Given the description of an element on the screen output the (x, y) to click on. 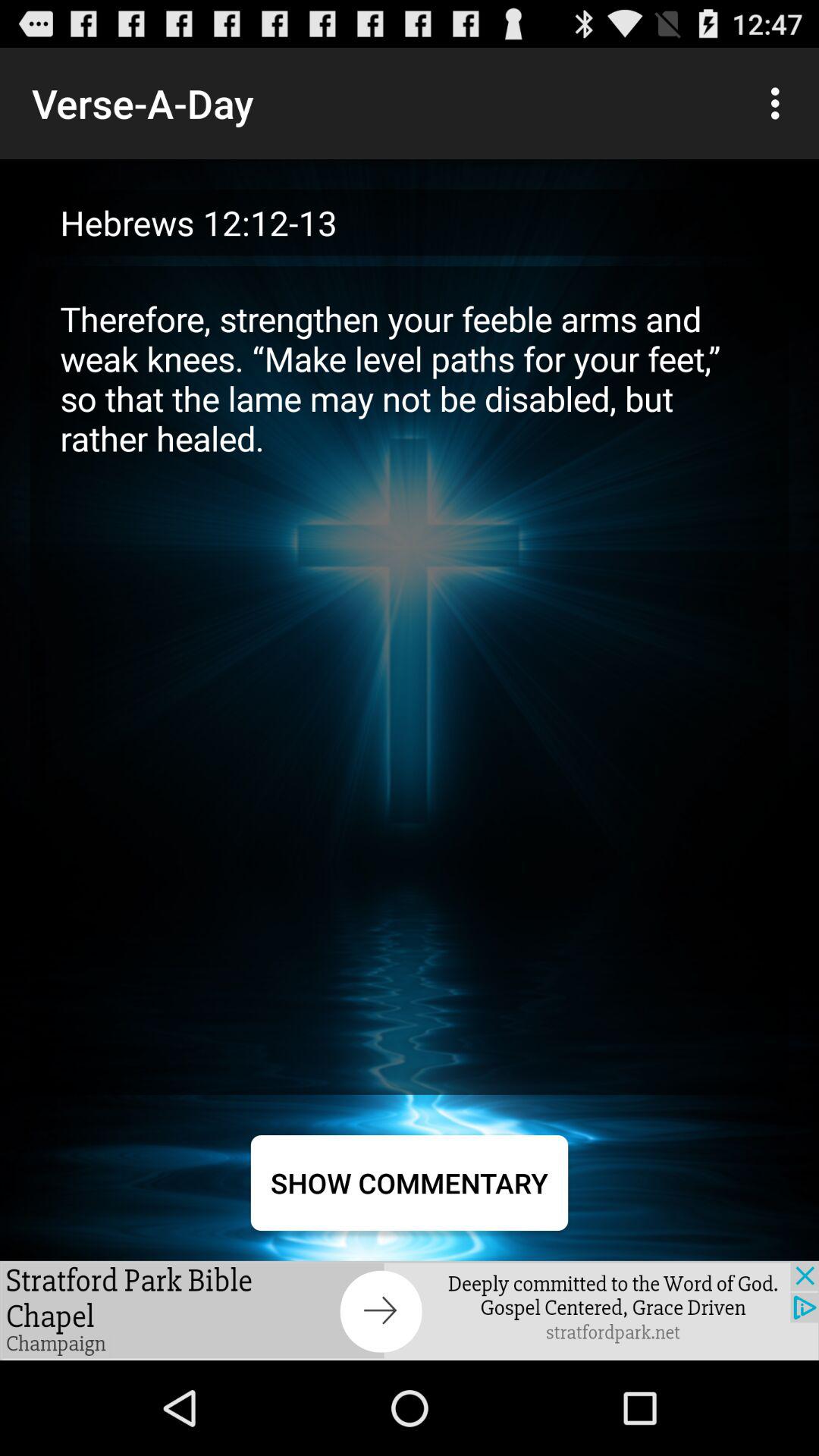
scroll to the show commentary icon (409, 1182)
